Given the description of an element on the screen output the (x, y) to click on. 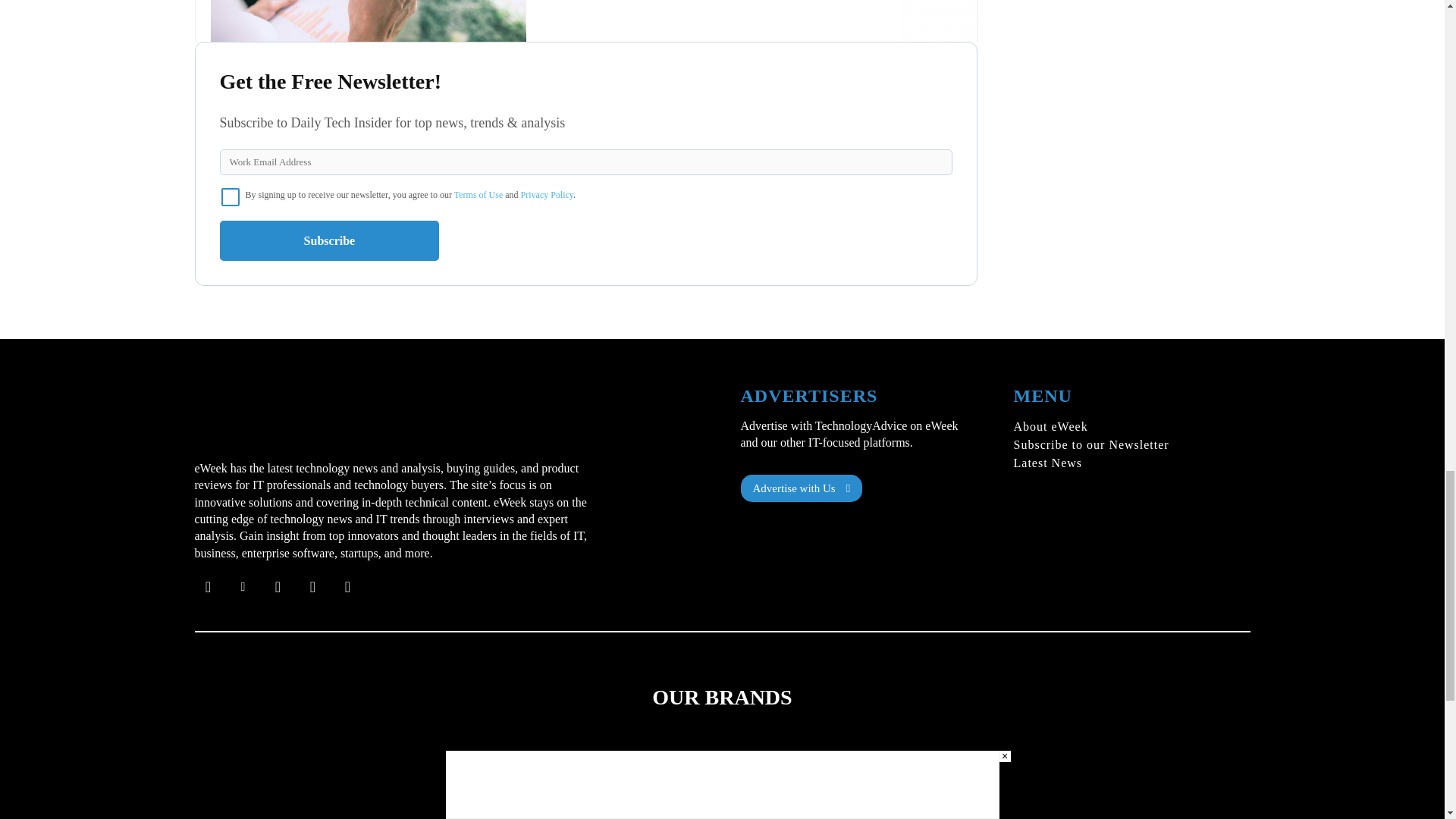
on (230, 197)
3rd party ad content (584, 20)
